Given the description of an element on the screen output the (x, y) to click on. 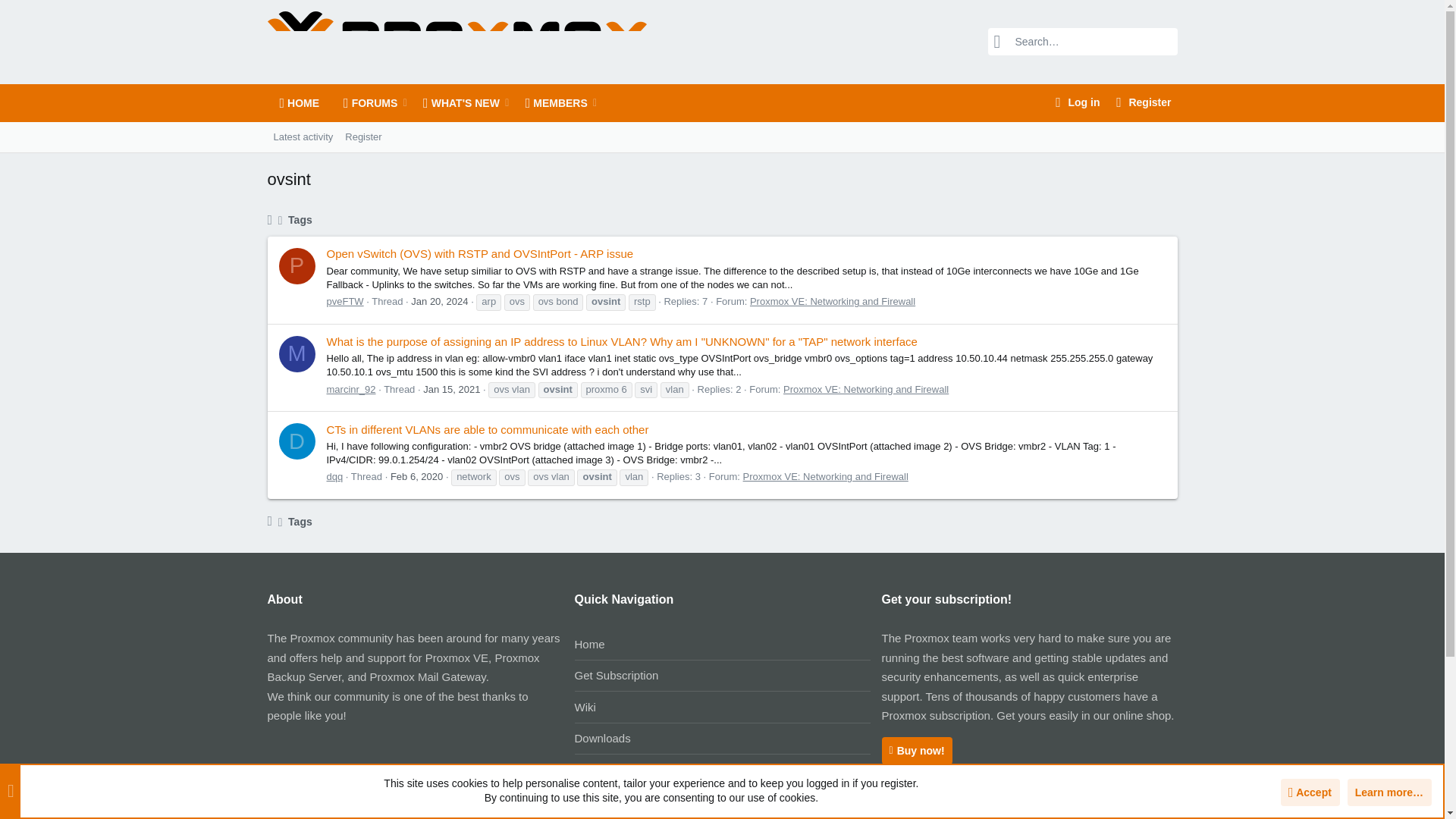
HOME (298, 103)
Register (363, 136)
WHAT'S NEW (455, 103)
FORUMS (364, 103)
Register (1140, 101)
Jan 20, 2024 at 14:59 (438, 301)
Jan 15, 2021 at 17:13 (451, 389)
Log in (326, 137)
Latest activity (1075, 101)
Feb 6, 2020 at 19:06 (302, 136)
MEMBERS (432, 103)
